Given the description of an element on the screen output the (x, y) to click on. 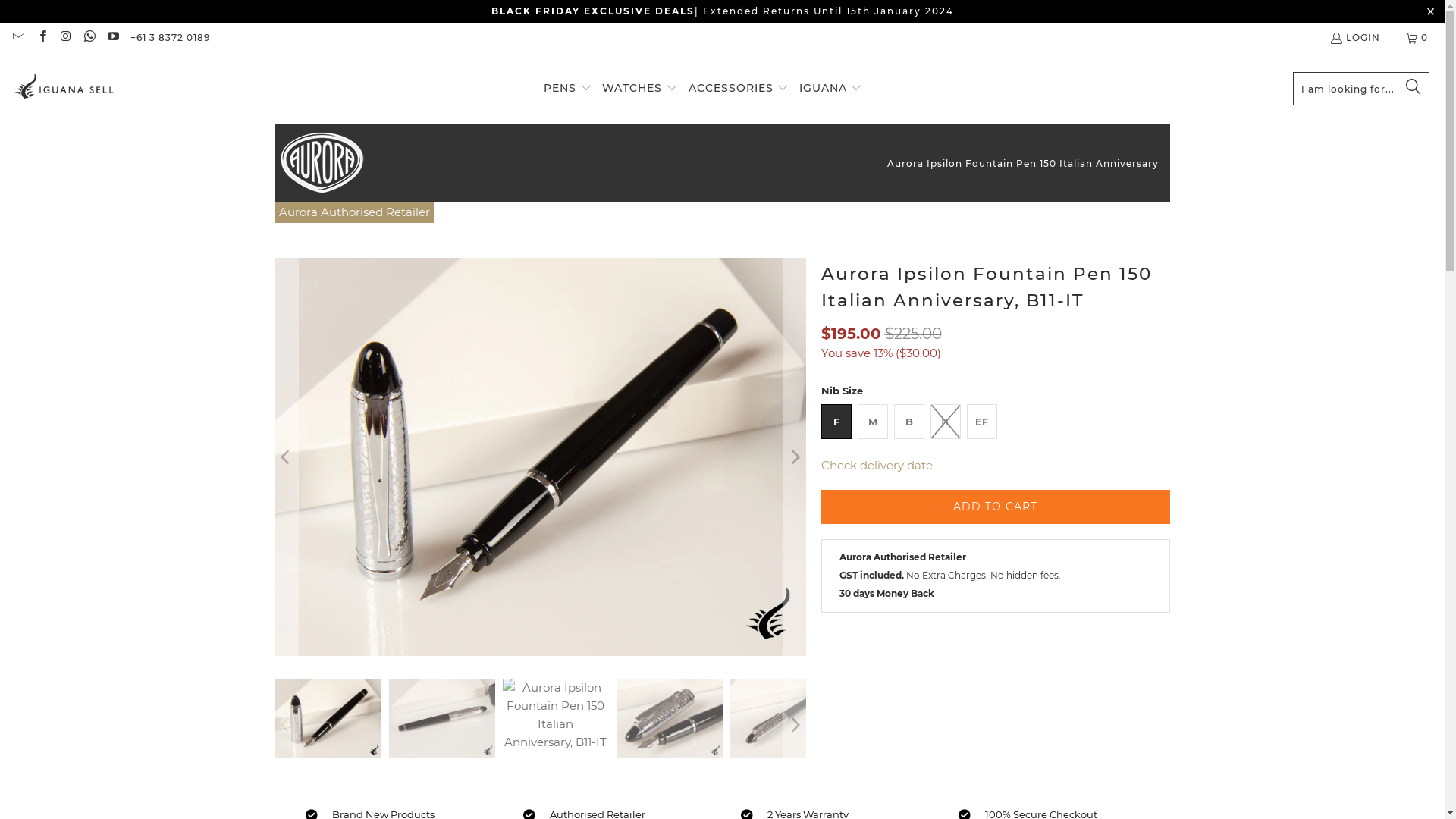
Email Iguana Sell AU Element type: hover (17, 37)
Iguana Sell AU Element type: hover (64, 88)
Check delivery date Element type: text (875, 465)
Iguana Sell AU on YouTube Element type: hover (112, 37)
Iguana Sell AU on Instagram Element type: hover (65, 37)
Iguana Sell AU on Facebook Element type: hover (40, 37)
0 Element type: text (1417, 37)
ADD TO CART Element type: text (994, 506)
LOGIN Element type: text (1354, 37)
BLACK FRIDAY Element type: text (535, 10)
+61 3 8372 0189 Element type: text (170, 37)
Iguana Sell AU on WhatsApp Element type: hover (88, 37)
